Given the description of an element on the screen output the (x, y) to click on. 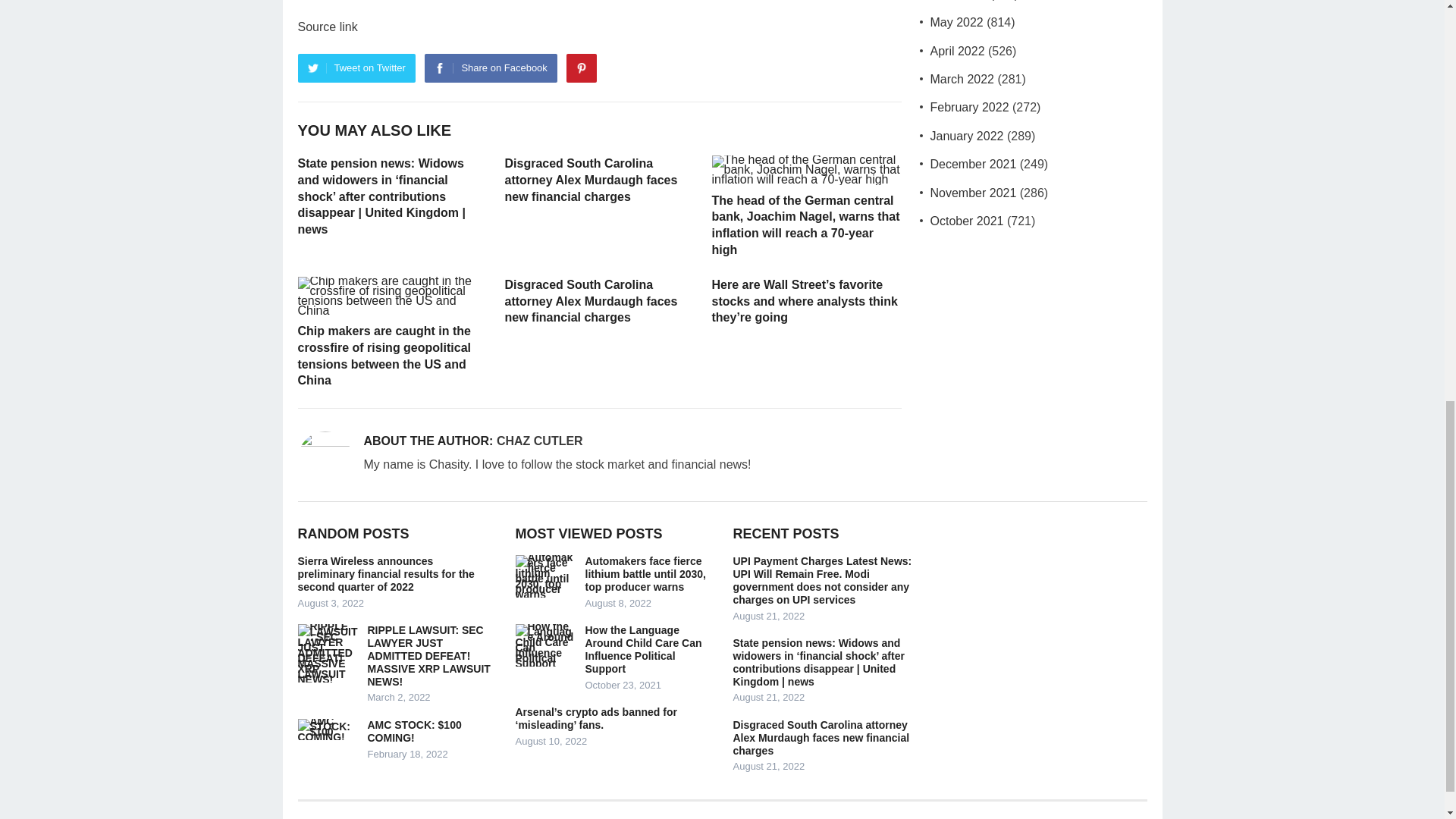
Source link (326, 26)
Pinterest (581, 68)
Tweet on Twitter (355, 68)
Share on Facebook (490, 68)
